Given the description of an element on the screen output the (x, y) to click on. 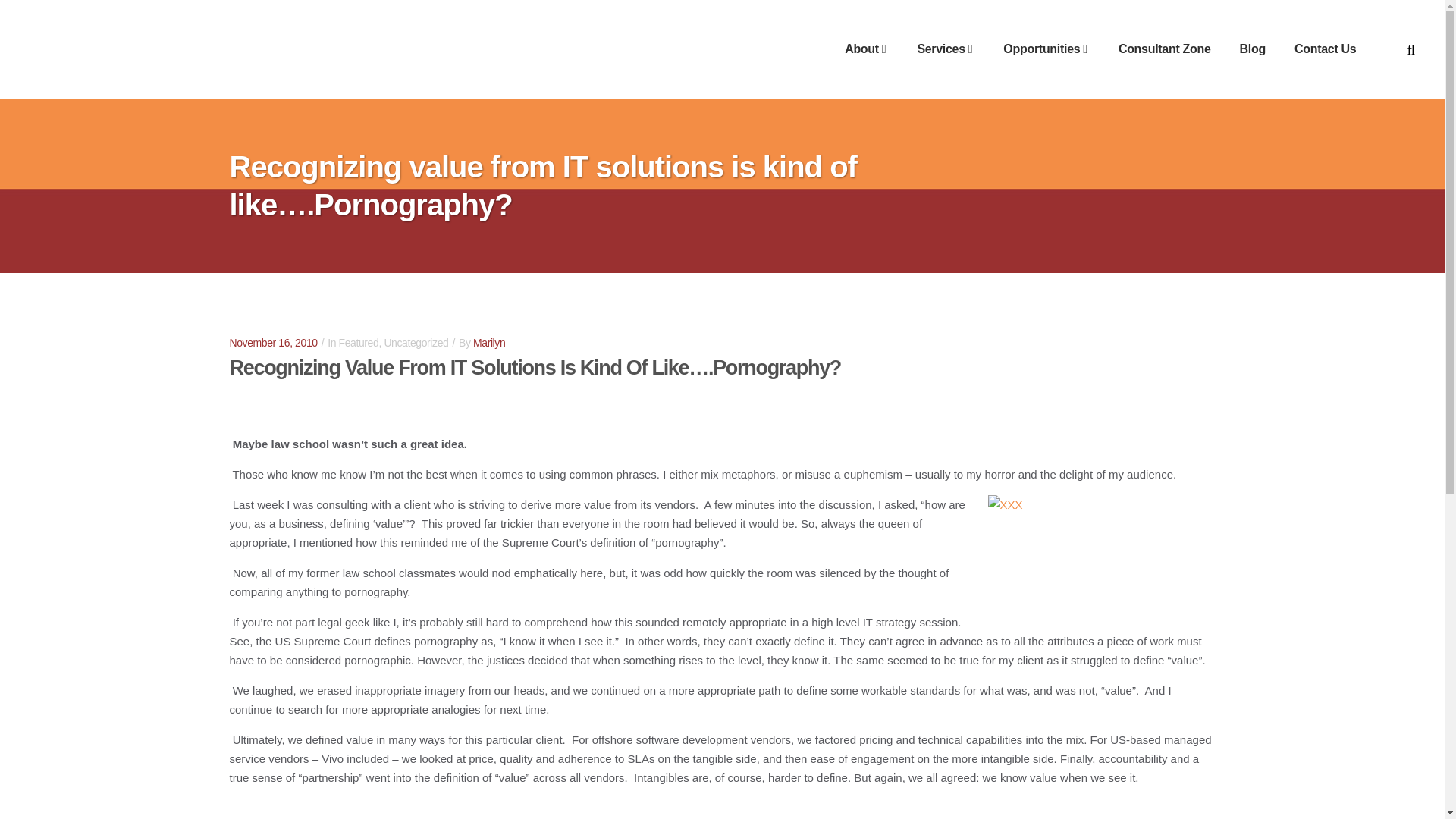
Opportunities (1045, 49)
Consultant Zone (1164, 49)
Marilyn (489, 342)
Featured (358, 342)
Vivoinc.Recognizing Value from IT Solns is like Pornography? (1100, 552)
Contact Us (1324, 49)
Uncategorized (416, 342)
